Given the description of an element on the screen output the (x, y) to click on. 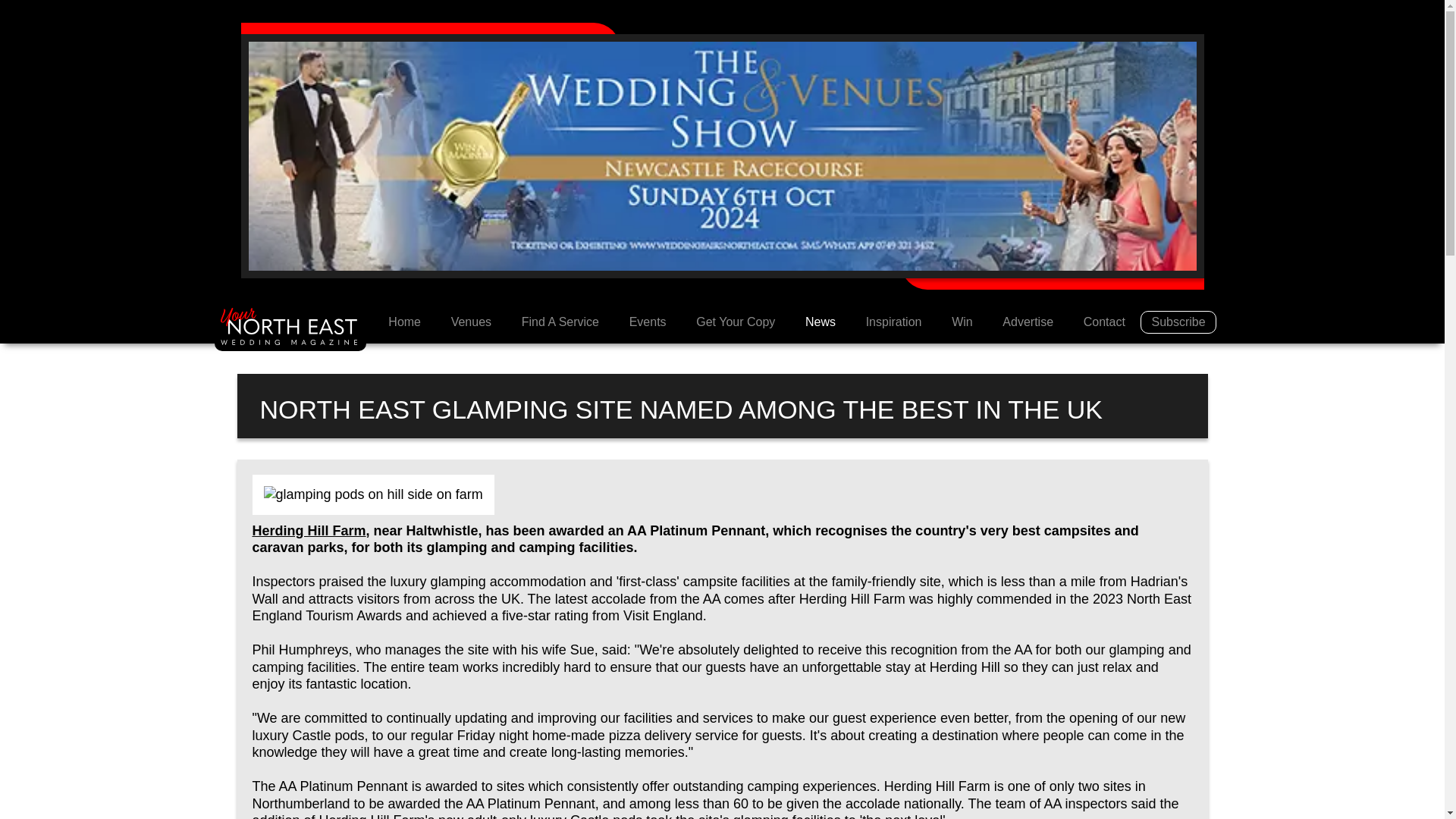
Contact (1104, 322)
Advertise (1028, 322)
Get Your Copy (735, 322)
Inspiration (893, 322)
Events (647, 322)
Your North East Wedding (403, 322)
Be inspired by Your North East Wedding magazine (893, 322)
Advertise with Your North East Wedding magazine (1028, 322)
Contact the team at Your North East Wedding magazine (1104, 322)
